Given the description of an element on the screen output the (x, y) to click on. 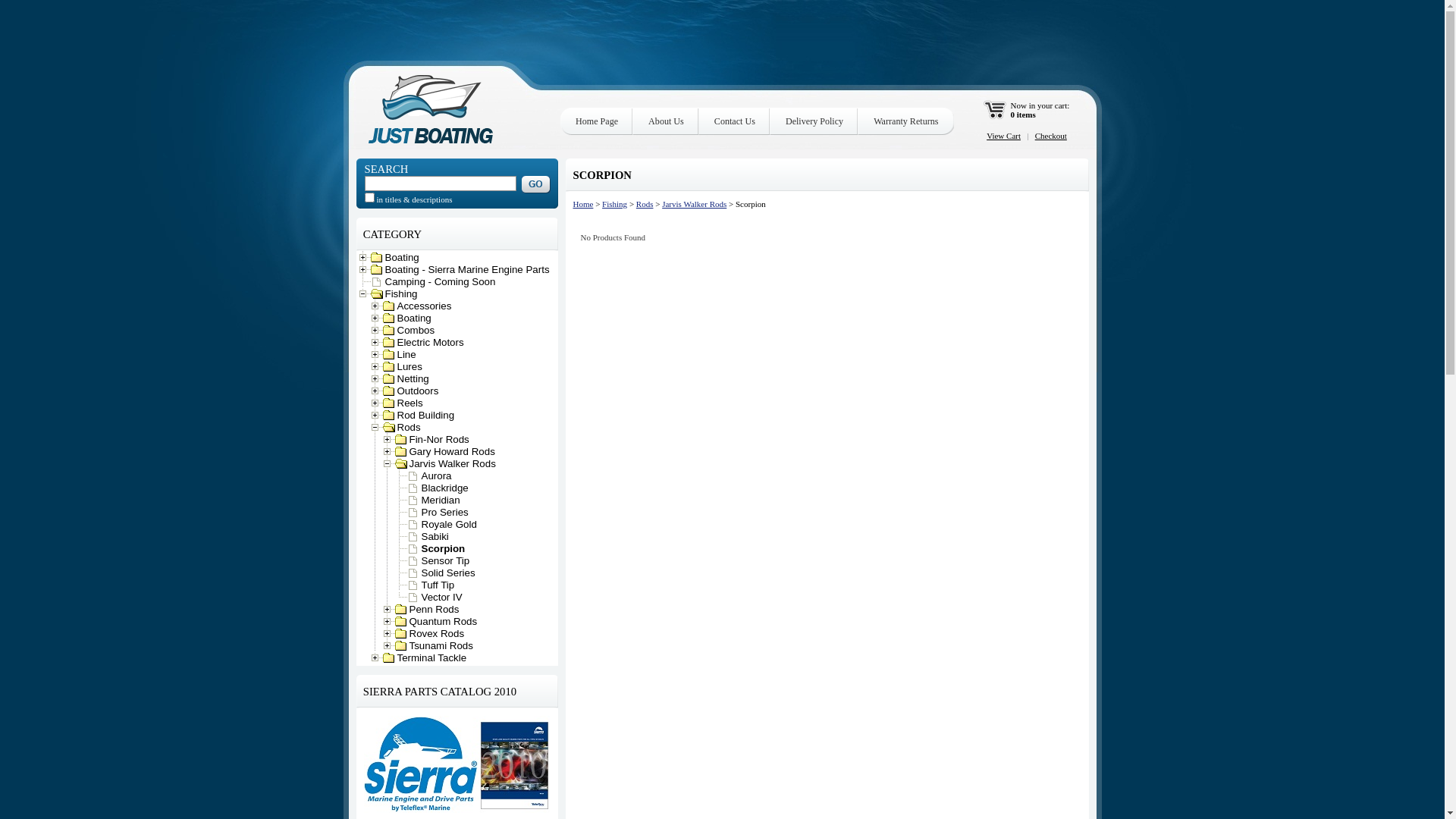
Combos Element type: text (414, 329)
Checkout Element type: text (1050, 135)
Home Element type: text (583, 203)
Scorpion Element type: text (441, 548)
Rovex Rods Element type: text (435, 633)
Blackridge Element type: text (442, 487)
Reels Element type: text (408, 402)
Home Page Element type: text (596, 120)
Fishing Element type: text (614, 203)
Boating Element type: text (412, 317)
Sabiki Element type: text (433, 536)
Delivery Policy Element type: text (814, 120)
Rods Element type: text (407, 427)
Fin-Nor Rods Element type: text (437, 439)
Rods Element type: text (644, 203)
Terminal Tackle Element type: text (430, 657)
Meridian Element type: text (438, 499)
Rod Building Element type: text (424, 414)
Pro Series Element type: text (442, 511)
Penn Rods Element type: text (432, 609)
Quantum Rods Element type: text (441, 621)
Aurora Element type: text (434, 475)
Royale Gold Element type: text (447, 524)
View Cart Element type: text (1003, 135)
Lures Element type: text (407, 366)
Fishing Element type: text (399, 293)
Accessories Element type: text (422, 305)
Line Element type: text (404, 354)
Jarvis Walker Rods Element type: text (694, 203)
Vector IV Element type: text (439, 596)
Jarvis Walker Rods Element type: text (450, 463)
Outdoors Element type: text (416, 390)
Gary Howard Rods Element type: text (450, 451)
Netting Element type: text (411, 378)
Boating Element type: text (400, 257)
Tuff Tip Element type: text (436, 584)
Contact Us Element type: text (734, 120)
Solid Series Element type: text (446, 572)
Sensor Tip Element type: text (443, 560)
Tsunami Rods Element type: text (439, 645)
Boating - Sierra Marine Engine Parts Element type: text (465, 269)
Sierra Marine Catalog 2010 Element type: hover (456, 763)
Electric Motors Element type: text (428, 342)
Warranty Returns Element type: text (905, 120)
Camping - Coming Soon Element type: text (438, 281)
About Us Element type: text (666, 120)
